Given the description of an element on the screen output the (x, y) to click on. 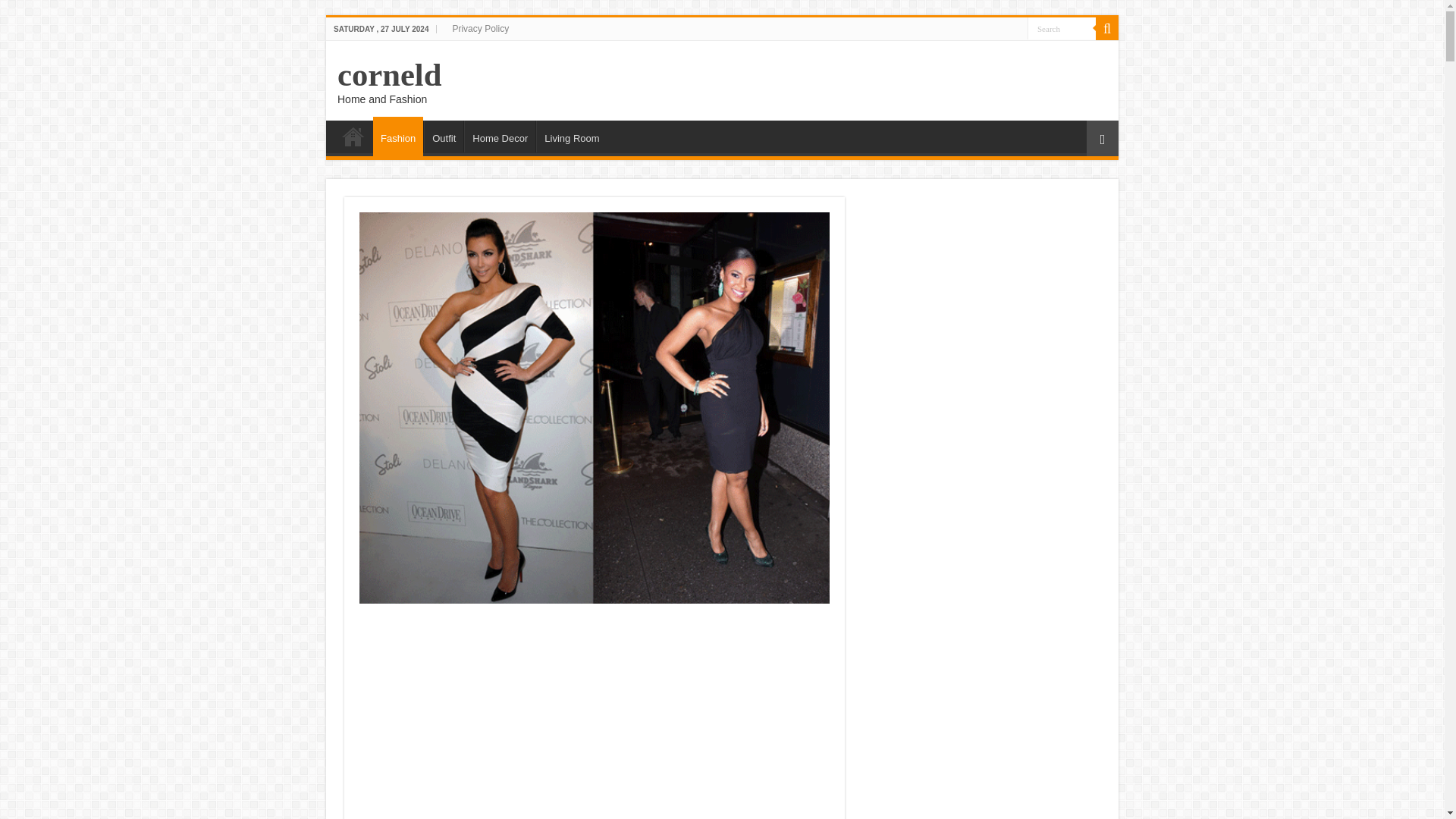
Search (1107, 28)
Search (1061, 28)
corneld (389, 74)
Living Room (571, 136)
Home Decor (499, 136)
Privacy Policy (480, 28)
Advertisement (594, 717)
Outfit (443, 136)
Home (352, 136)
Search (1061, 28)
Fashion (397, 136)
Advertisement (982, 291)
Search (1061, 28)
